Given the description of an element on the screen output the (x, y) to click on. 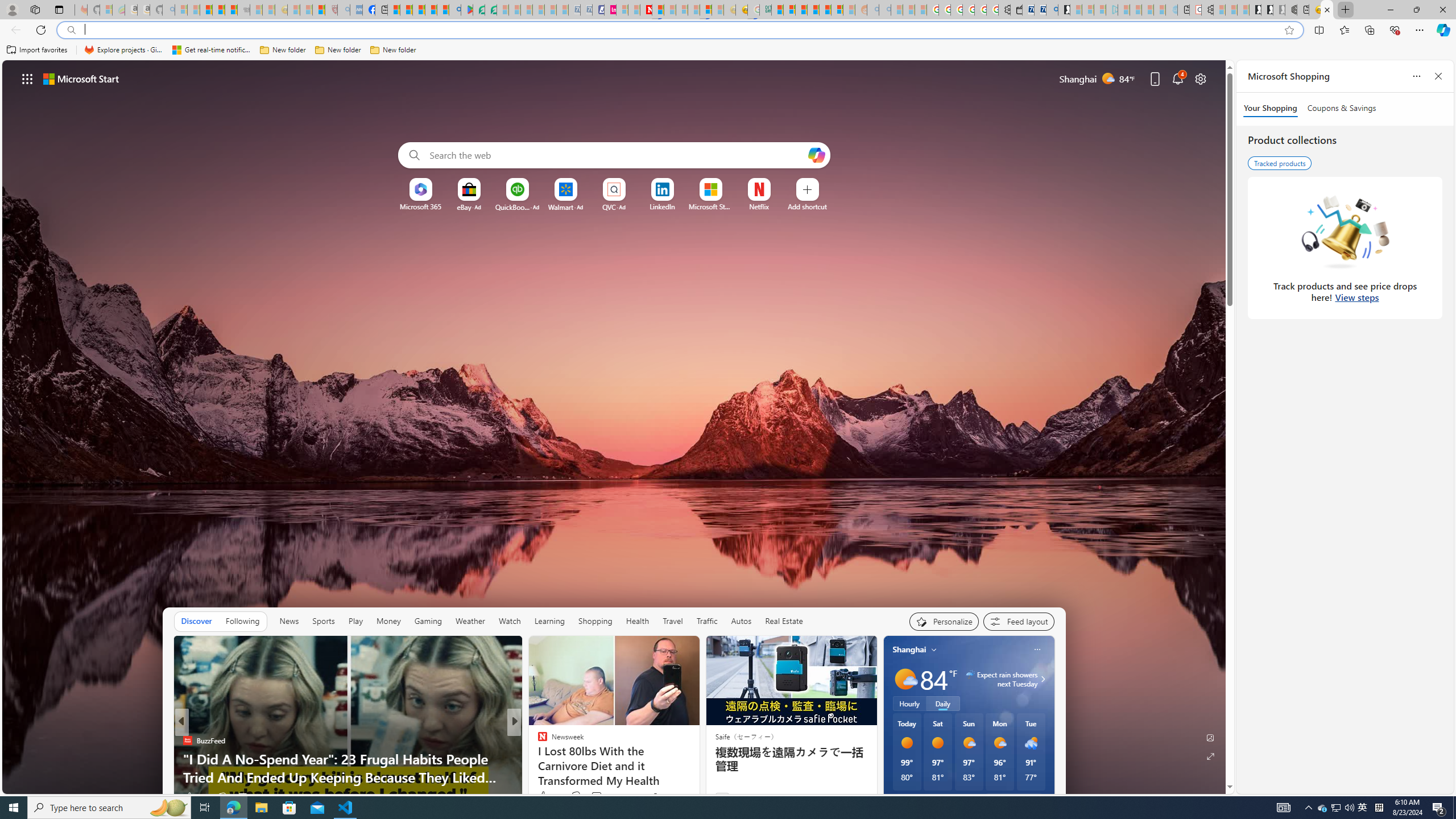
21 Like (543, 796)
69 Like (543, 796)
View comments 31 Comment (592, 797)
Microsoft start (81, 78)
